Given the description of an element on the screen output the (x, y) to click on. 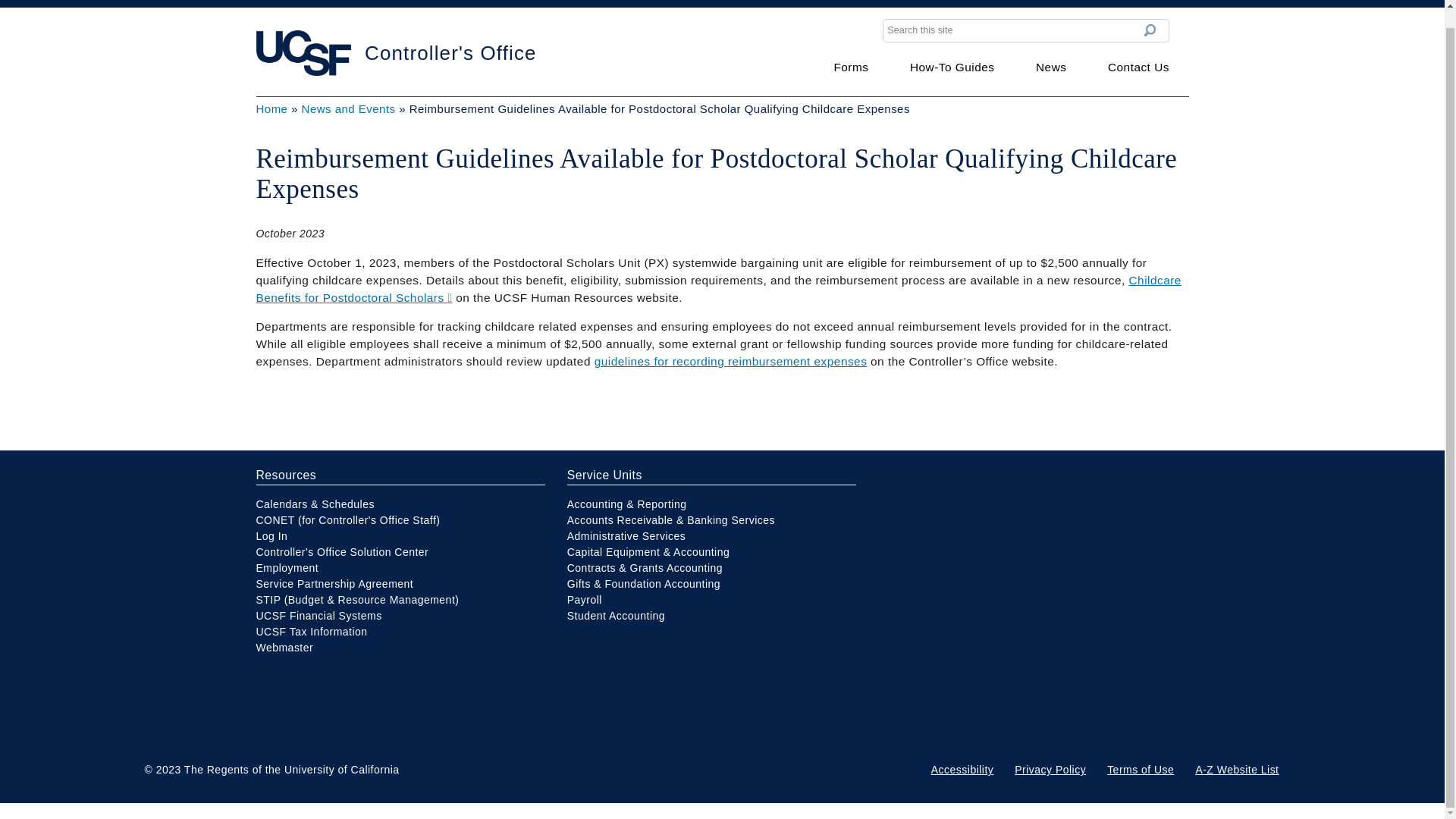
Controller's Office Solution Center (342, 551)
Accessibility (961, 769)
UCSF Tax Information (312, 631)
Forms (849, 67)
Administrative Services (626, 535)
Payroll (584, 599)
Search UCSF (1012, 2)
News (1050, 67)
Student Accounting (616, 615)
University of California, San Francisco (345, 2)
